Given the description of an element on the screen output the (x, y) to click on. 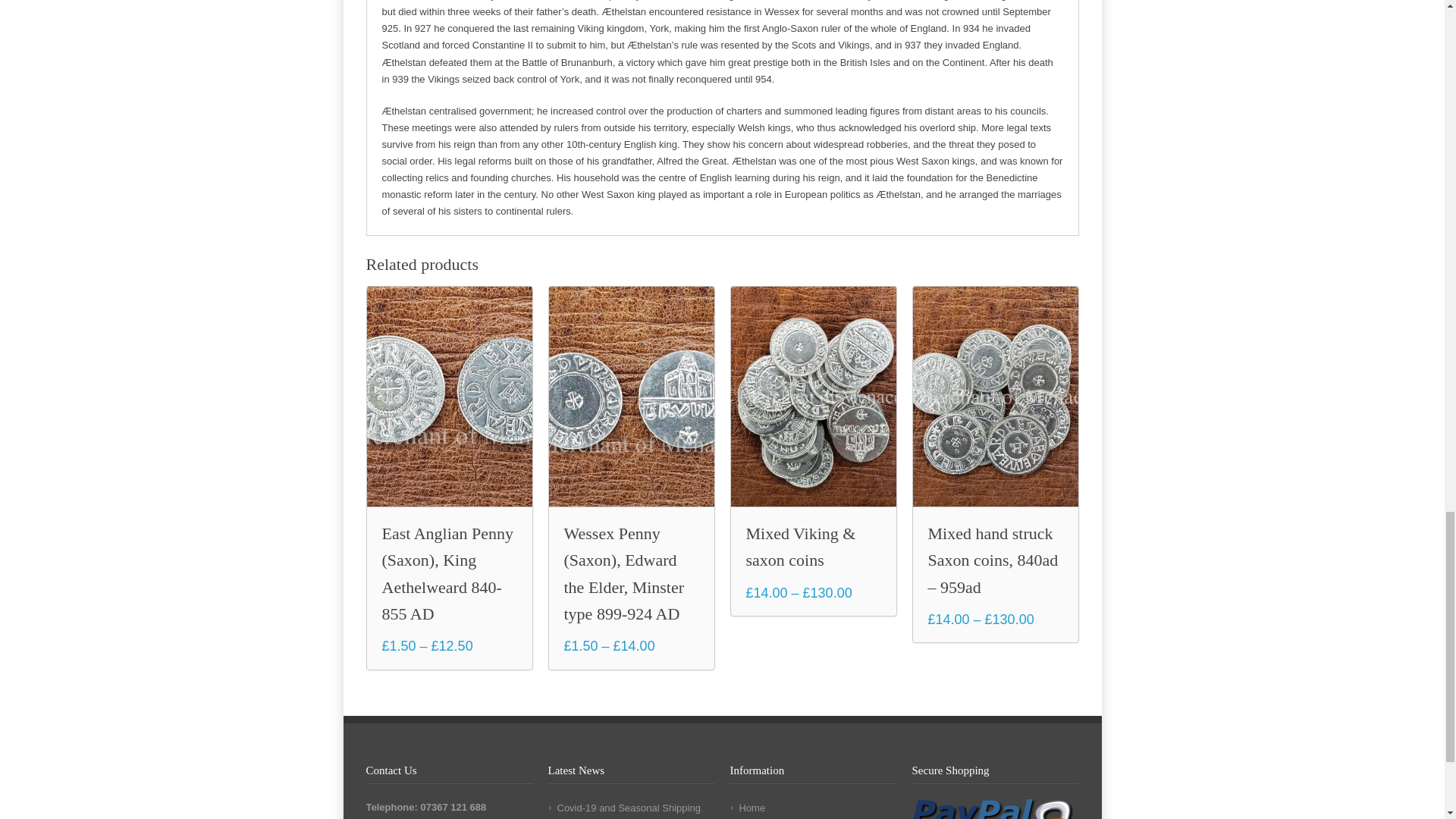
Home (751, 808)
Secure Shopping (994, 809)
07367 121 688 (453, 807)
